Given the description of an element on the screen output the (x, y) to click on. 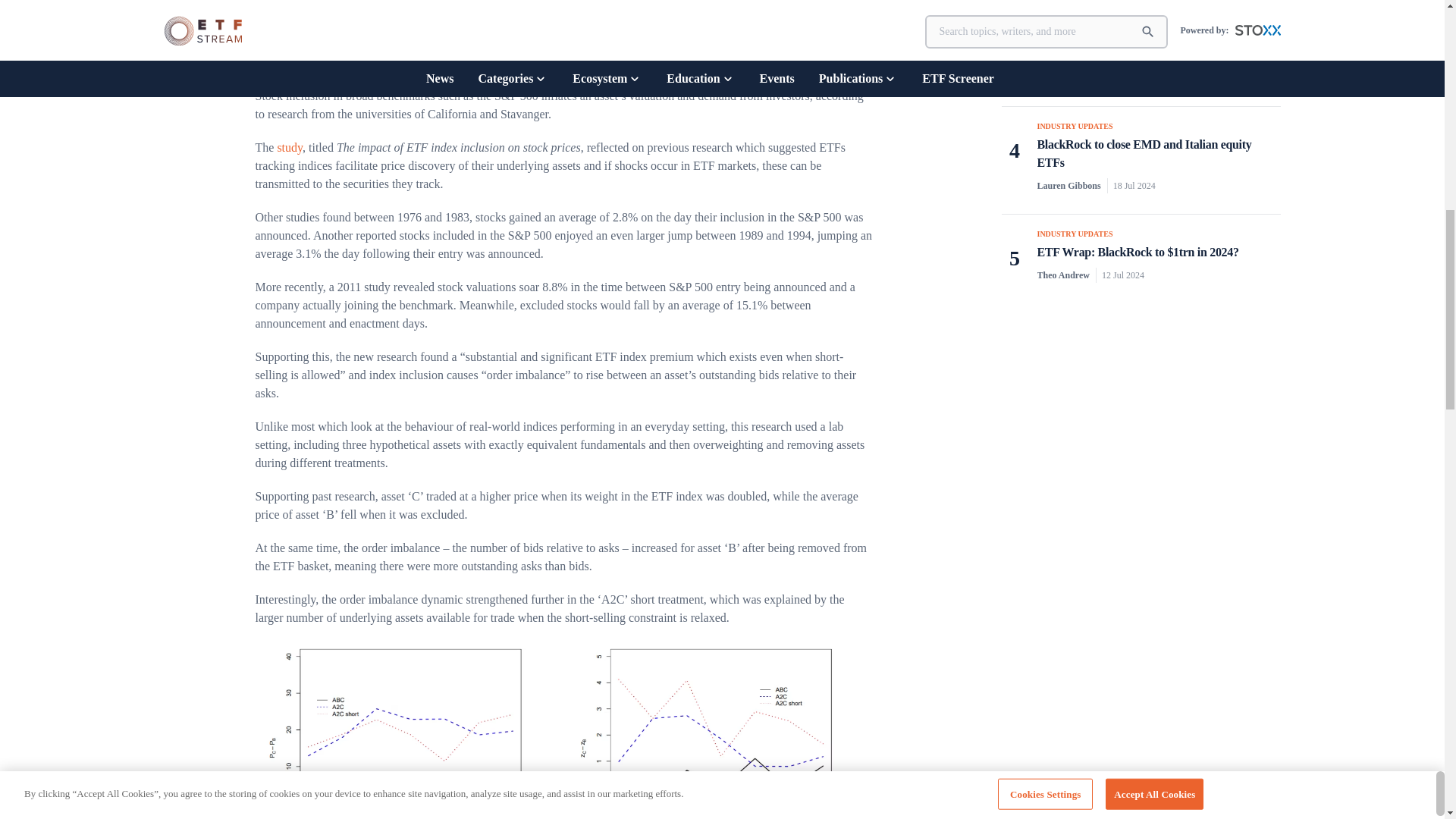
study (289, 146)
